Given the description of an element on the screen output the (x, y) to click on. 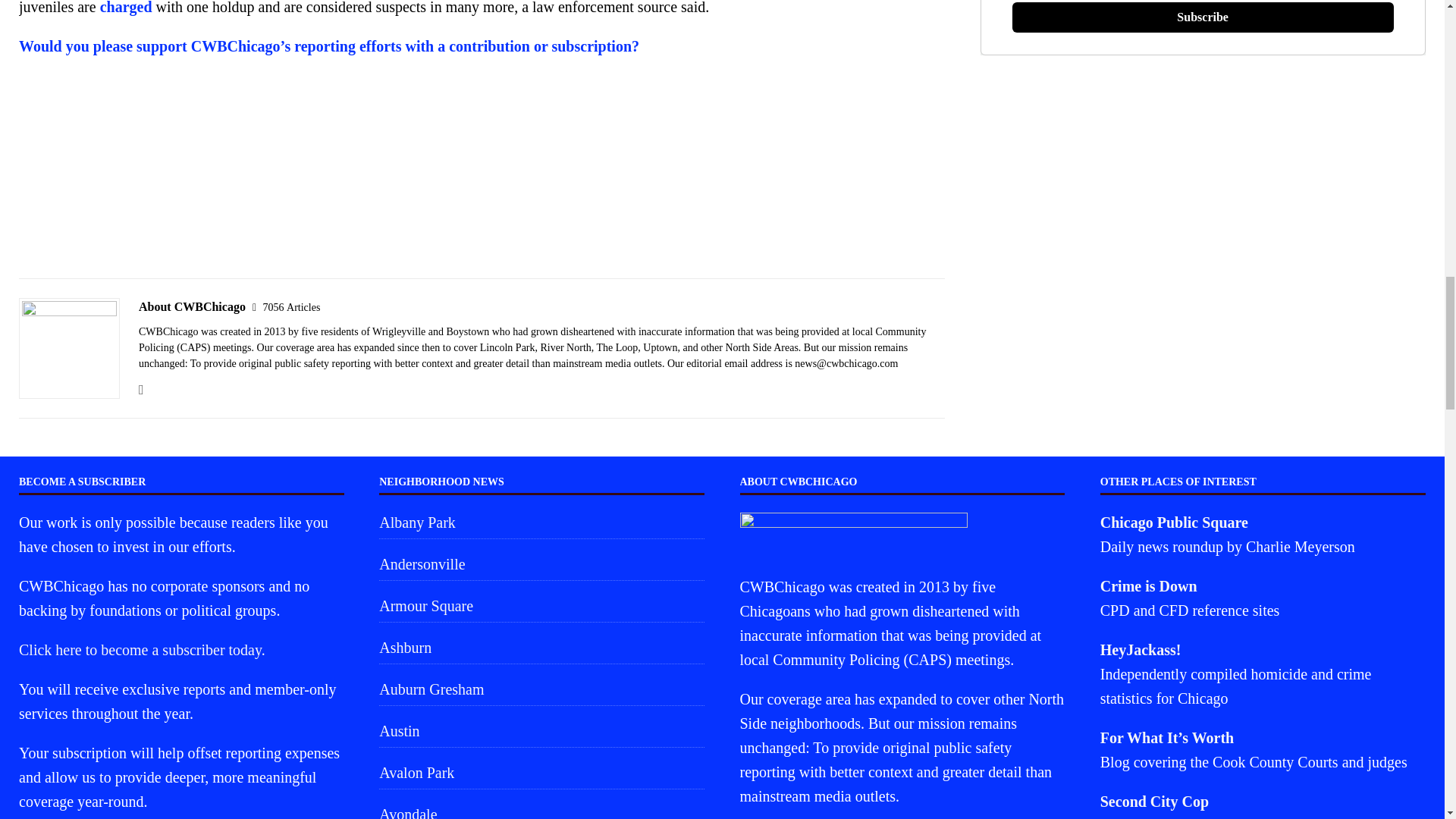
7056 Articles (291, 307)
charged (126, 7)
Click here to become a subscriber today. (141, 649)
Subscribe (1202, 17)
bscription? (602, 45)
Albany Park (541, 524)
More articles written by CWBChicago' (291, 307)
